Given the description of an element on the screen output the (x, y) to click on. 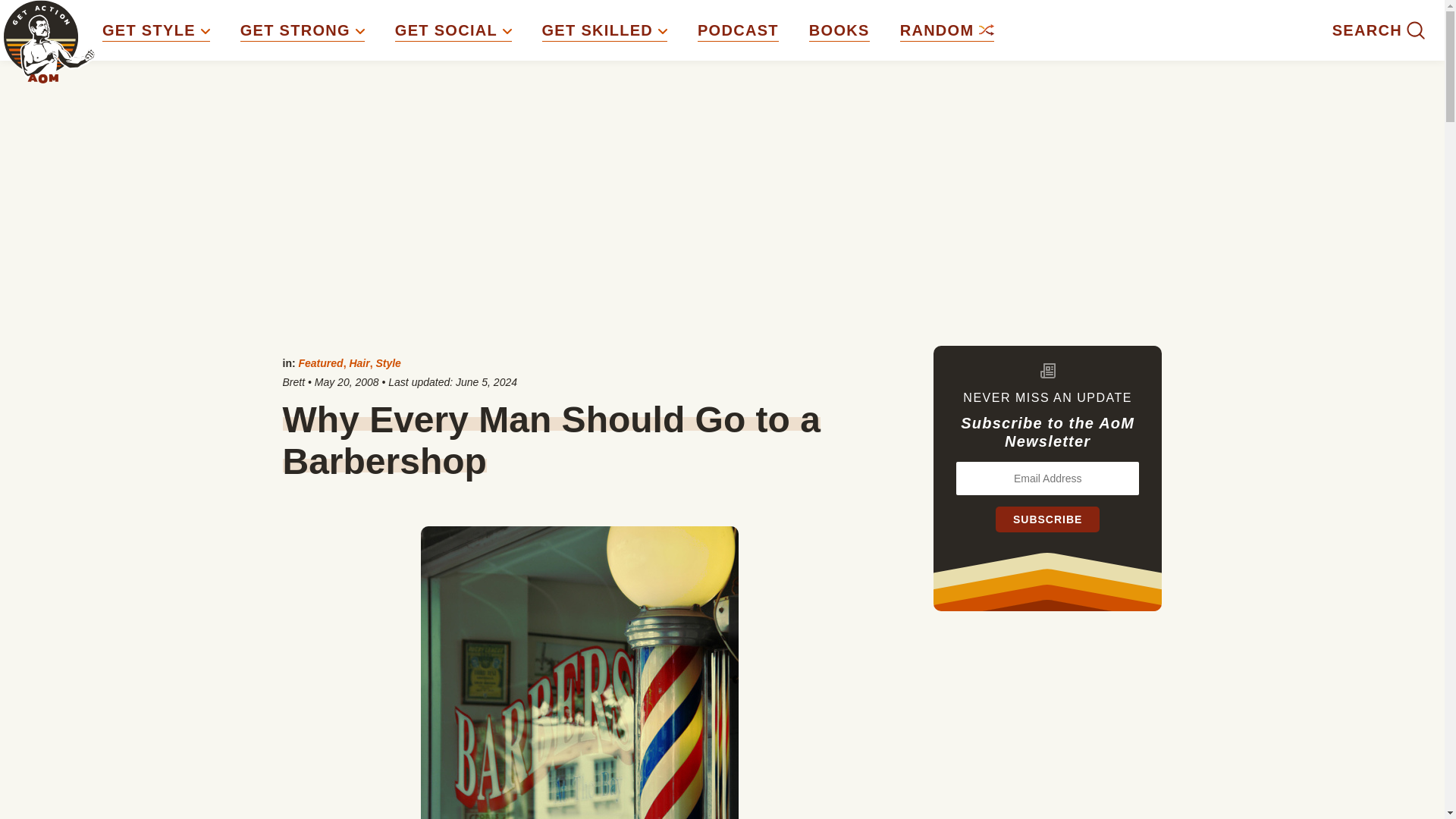
GET SKILLED (603, 30)
barber4 (579, 672)
RANDOM (946, 30)
BOOKS (839, 30)
GET SOCIAL (453, 30)
Subscribe (1047, 519)
3rd party ad content (1047, 730)
GET STRONG (302, 30)
GET STYLE (155, 30)
PODCAST (737, 30)
